Given the description of an element on the screen output the (x, y) to click on. 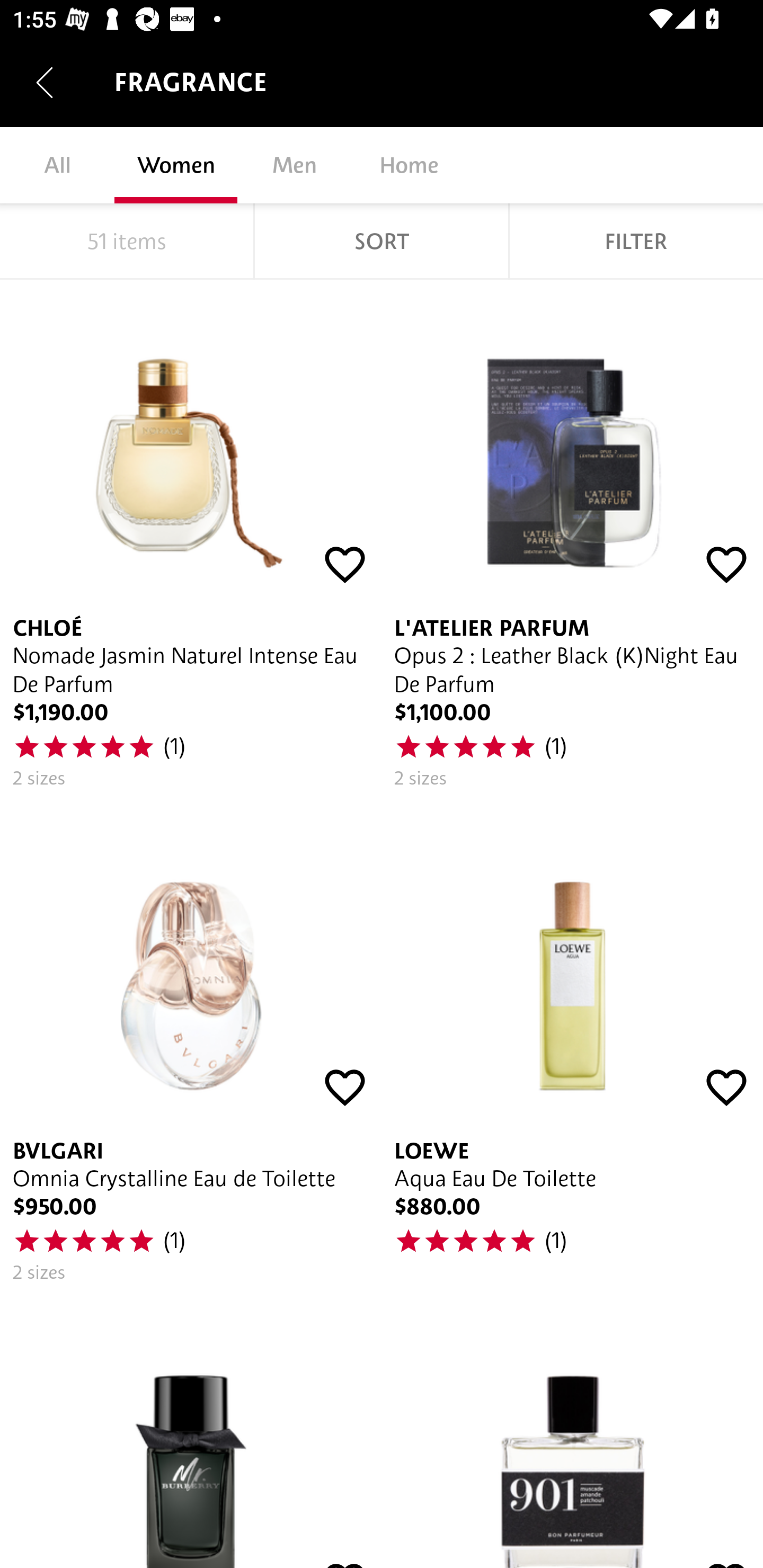
Navigate up (44, 82)
All (57, 165)
Men (294, 165)
Home (408, 165)
SORT (381, 241)
FILTER (636, 241)
LOEWE Aqua Eau De Toilette $880.00 50.0 (1) (572, 1049)
